Given the description of an element on the screen output the (x, y) to click on. 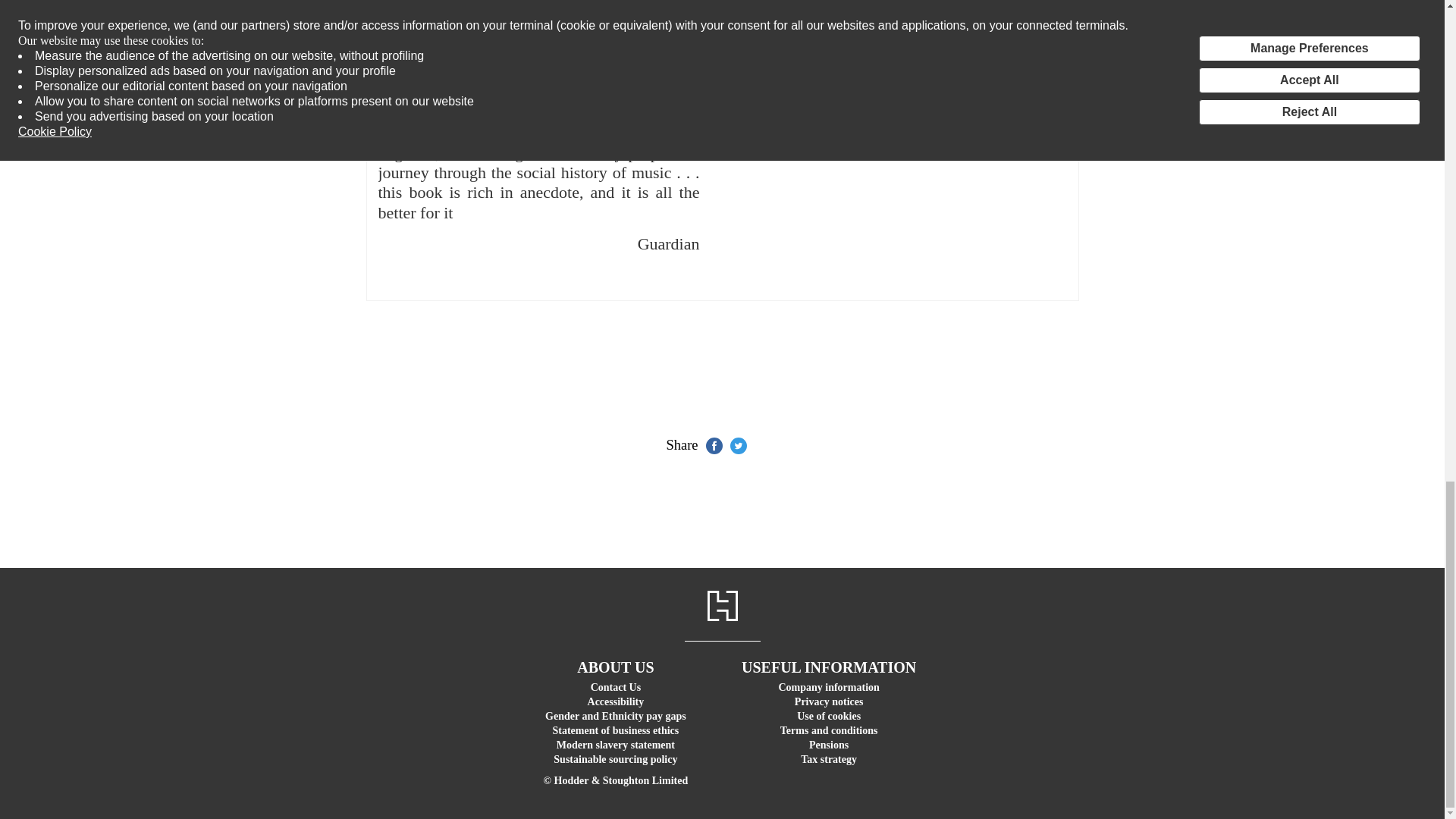
Hachette Logo Large H Initial (721, 605)
